Given the description of an element on the screen output the (x, y) to click on. 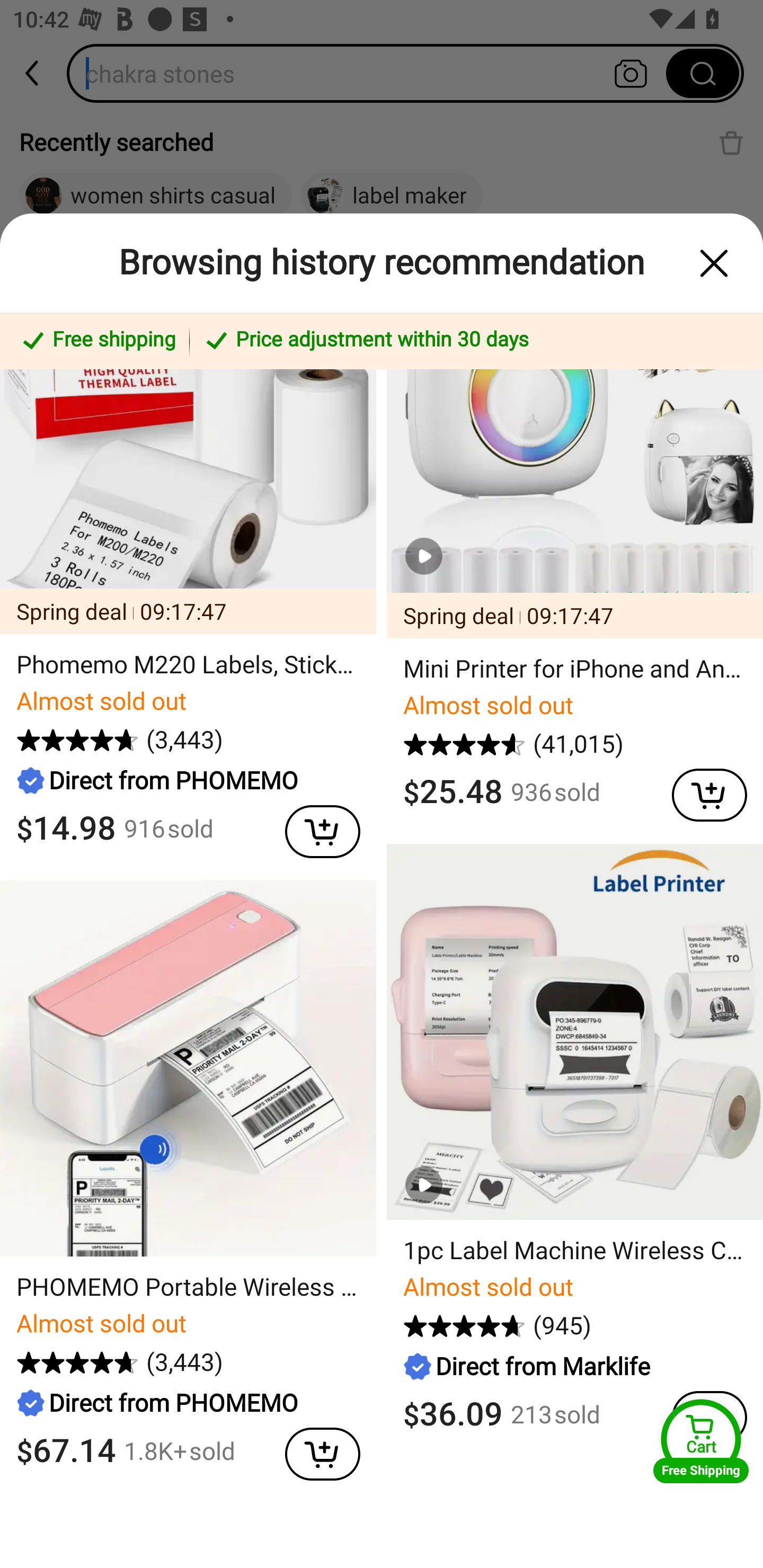
 (714, 263)
Free shipping (97, 340)
Price adjustment within 30 days (472, 340)
 (700, 790)
 (314, 827)
Cart Free Shipping Cart (701, 1440)
 (314, 1450)
